Given the description of an element on the screen output the (x, y) to click on. 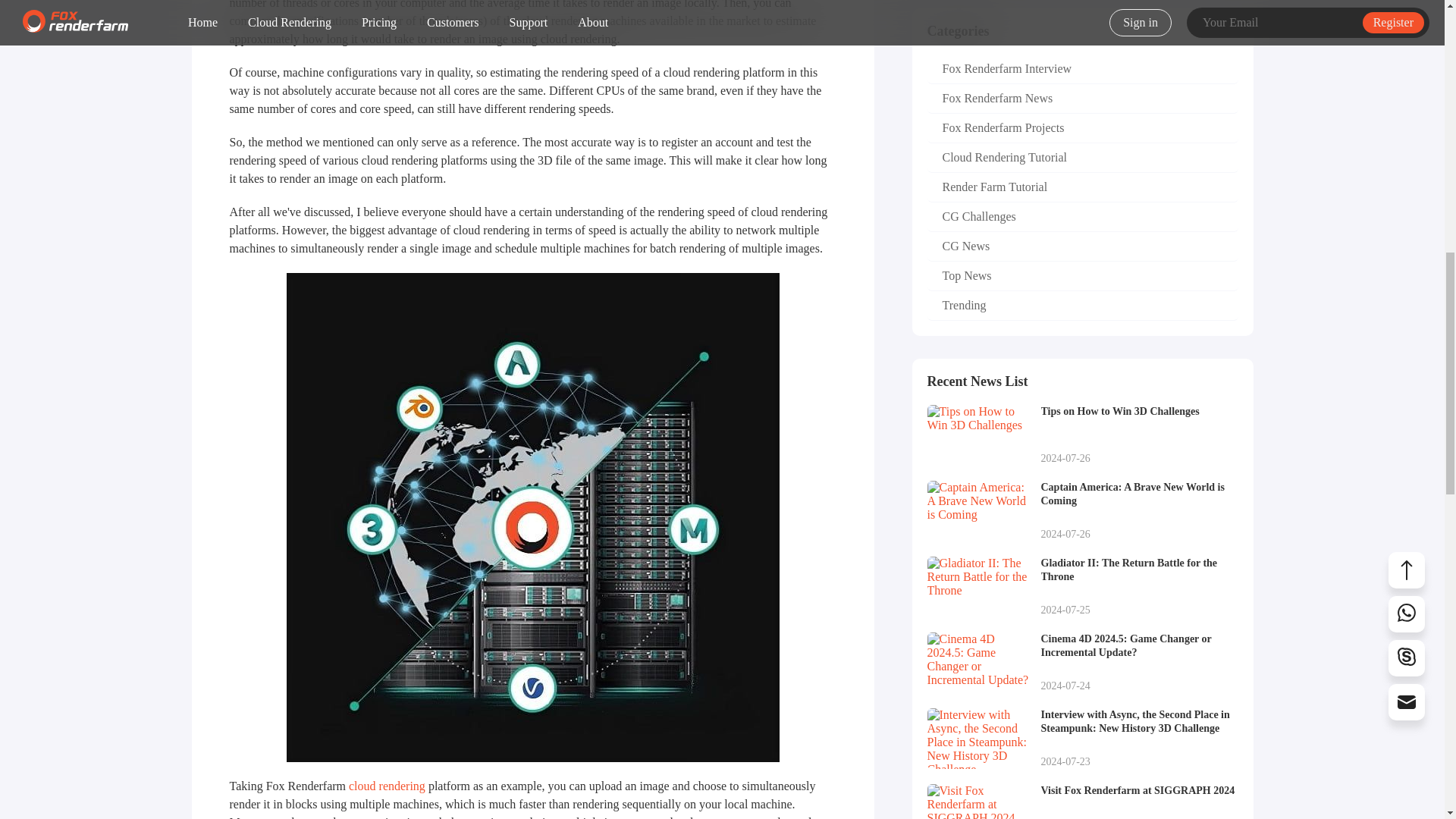
Fox Renderfarm Interview (1081, 69)
Trending (1081, 306)
CG News (1081, 246)
Fox Renderfarm News (1081, 98)
cloud rendering (387, 785)
CG Challenges (1081, 435)
cloud rendering (1081, 216)
Top News (387, 785)
Cloud Rendering Tutorial (1081, 276)
Render Farm Tutorial (1081, 157)
Fox Renderfarm Projects (1081, 187)
